Given the description of an element on the screen output the (x, y) to click on. 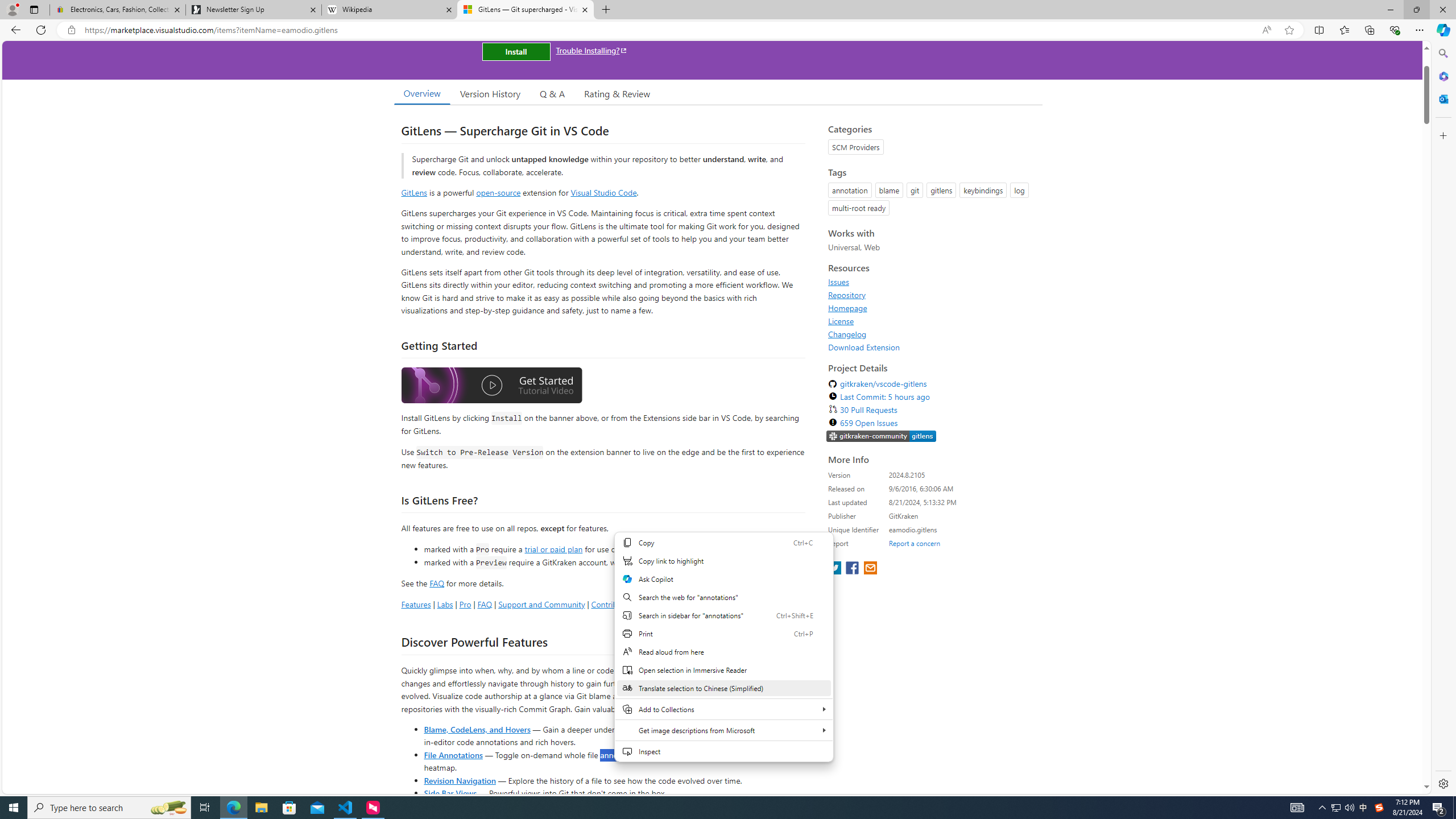
Restore (1416, 9)
Side bar (1443, 418)
open-source (498, 192)
Close tab (584, 9)
Q & A (552, 92)
Install (515, 51)
Revision Navigation (459, 780)
Contributing (613, 603)
Settings (1442, 783)
Web context (724, 653)
Repository (931, 294)
share extension on twitter (835, 568)
